Given the description of an element on the screen output the (x, y) to click on. 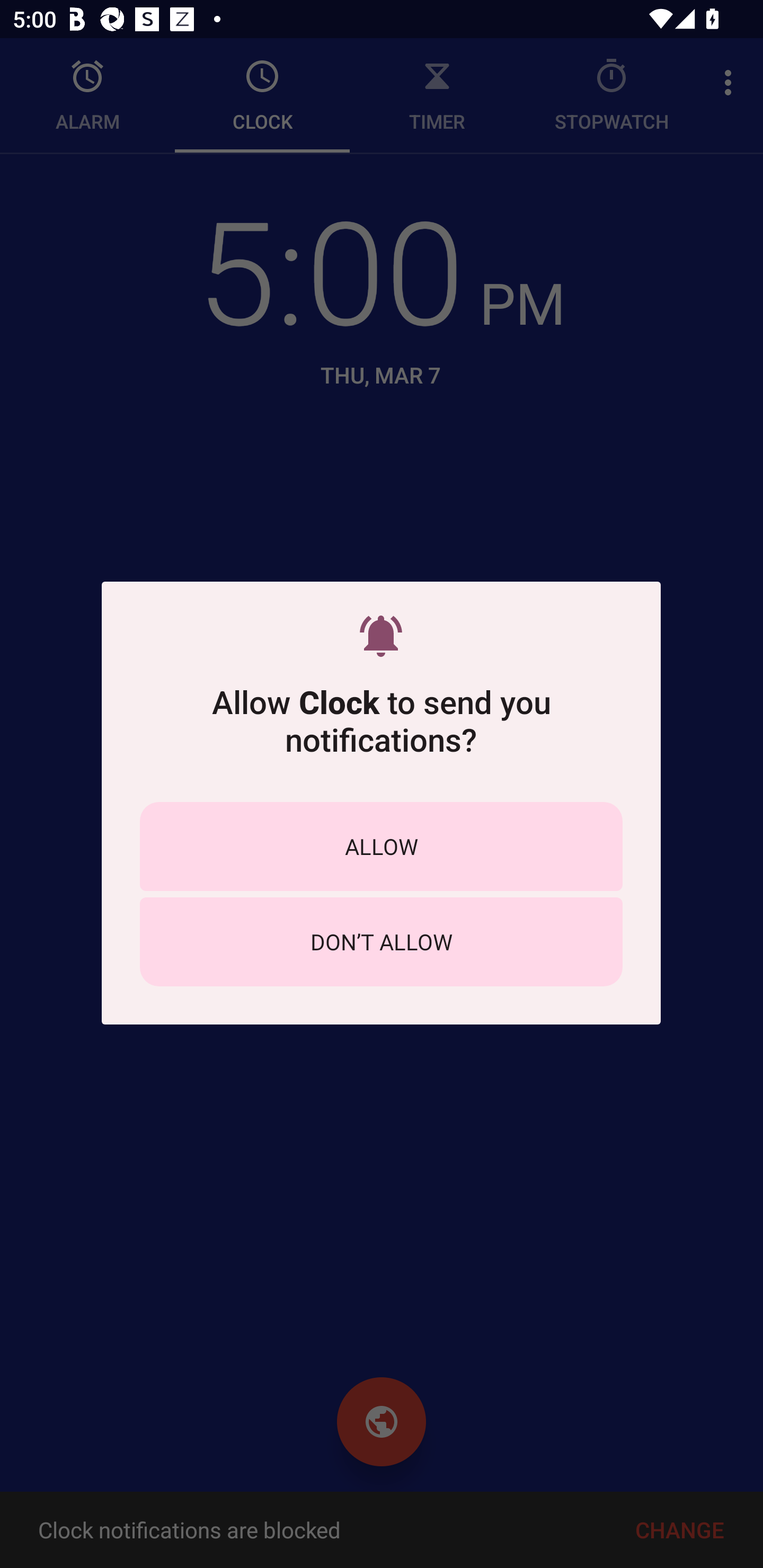
ALLOW (380, 845)
DON’T ALLOW (380, 941)
